Given the description of an element on the screen output the (x, y) to click on. 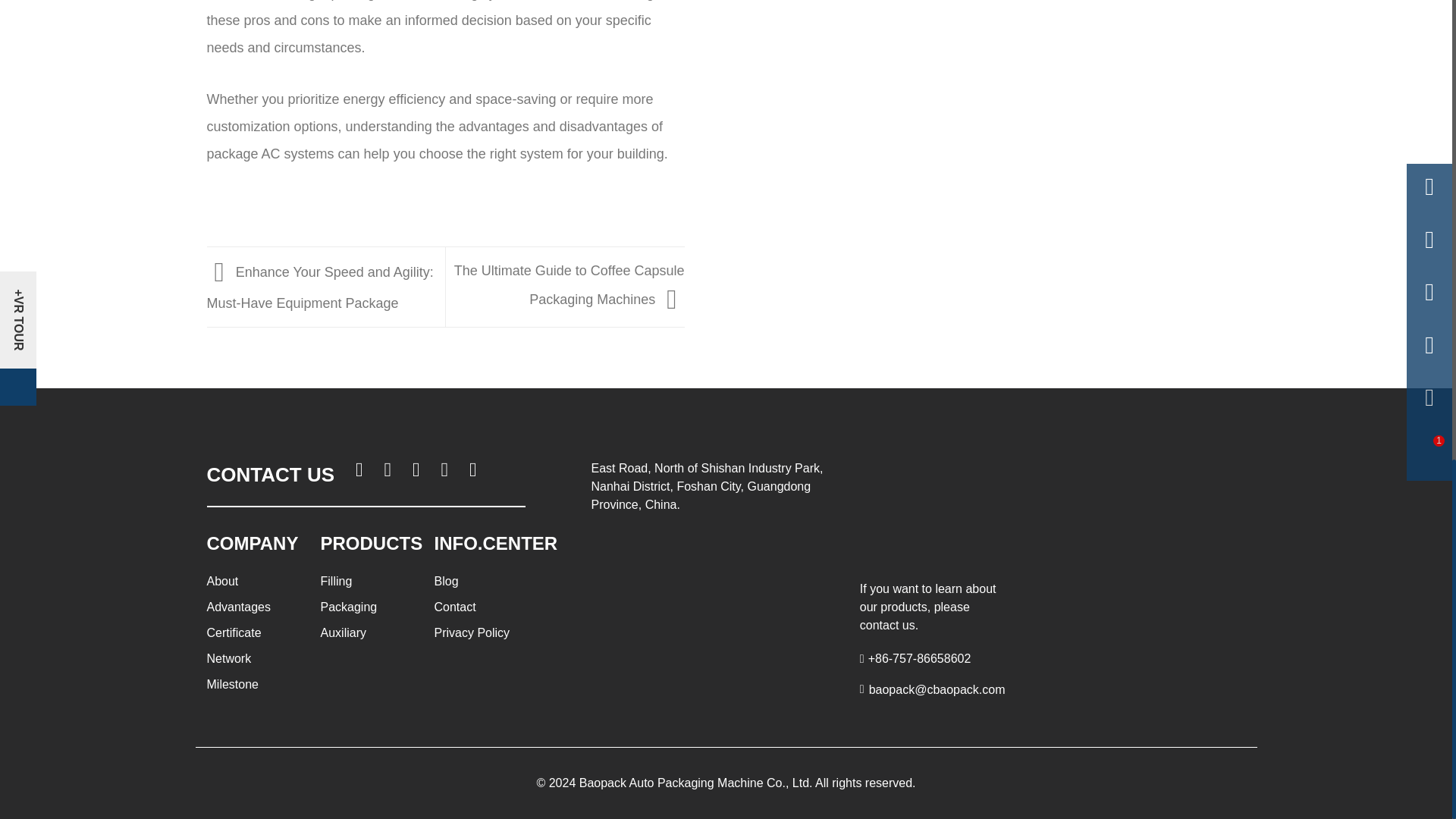
Privacy Policy (471, 632)
Network (228, 658)
Advantages (238, 606)
Auxiliary (342, 632)
Contact (454, 606)
The Ultimate Guide to Coffee Capsule Packaging Machines (569, 284)
Blog (445, 581)
map (711, 579)
Certificate (233, 632)
About (222, 581)
